Given the description of an element on the screen output the (x, y) to click on. 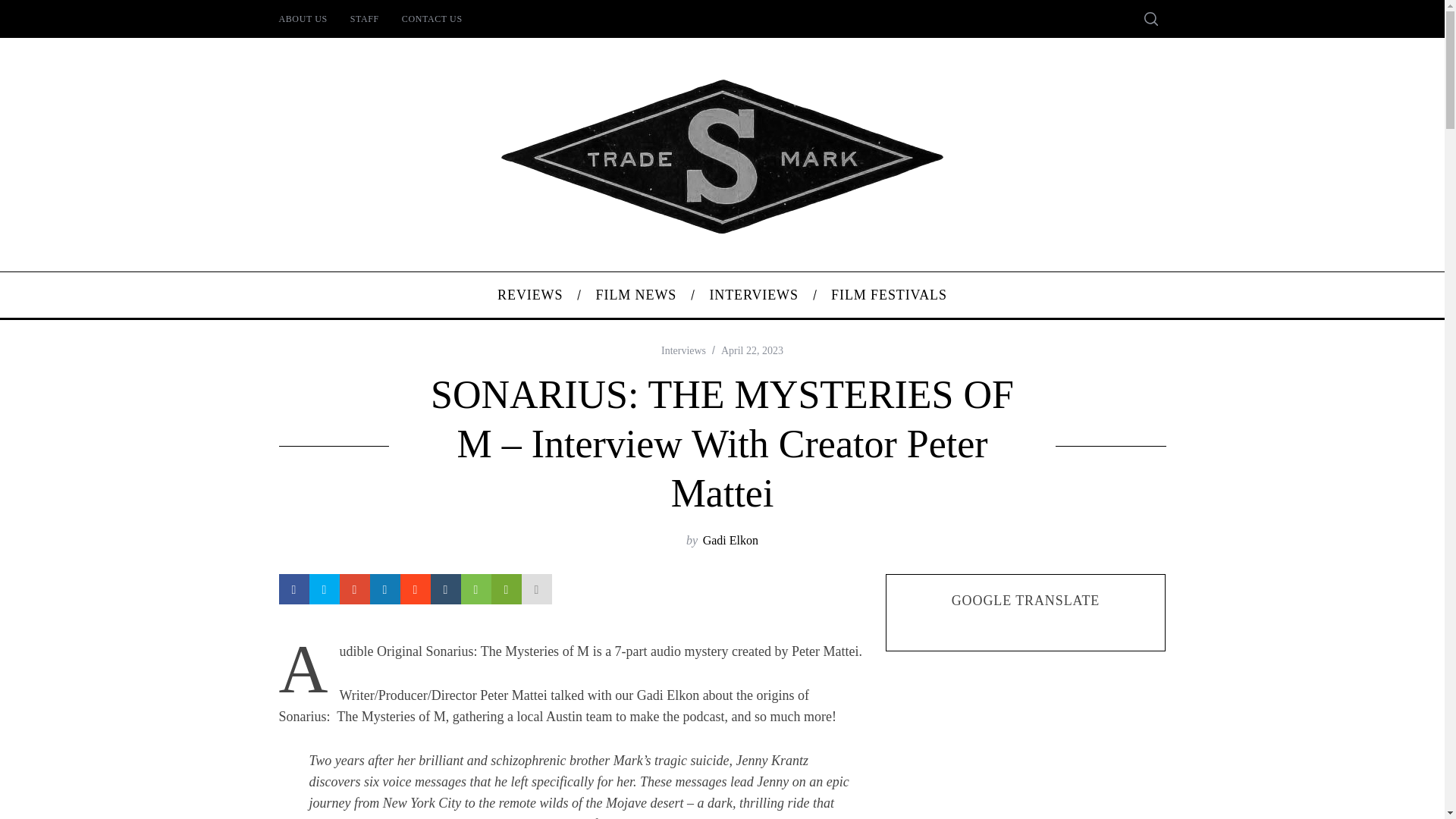
FILM NEWS (636, 294)
Gadi Elkon (730, 540)
Interviews (683, 350)
REVIEWS (529, 294)
CONTACT US (432, 18)
INTERVIEWS (754, 294)
ABOUT US (301, 18)
STAFF (364, 18)
FILM FESTIVALS (889, 294)
